Given the description of an element on the screen output the (x, y) to click on. 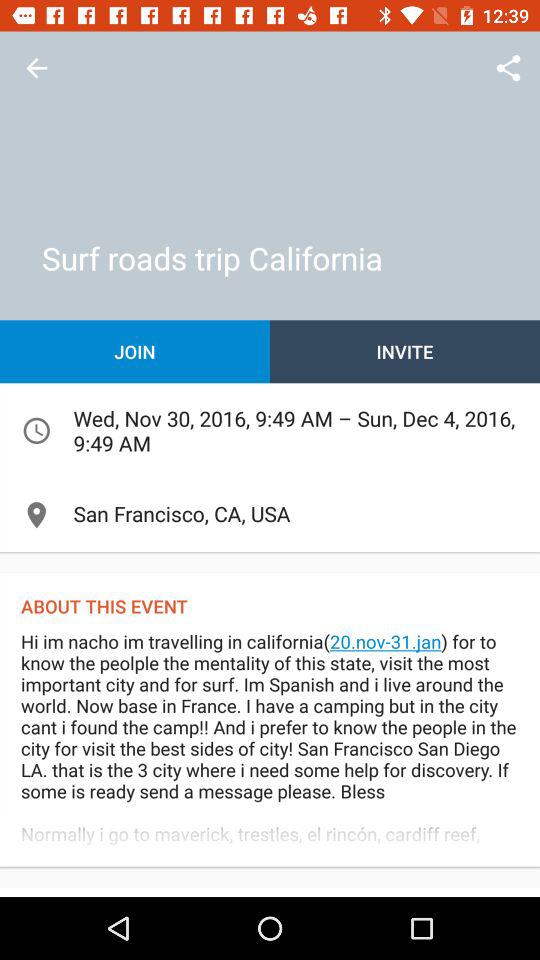
select hi im nacho icon (270, 747)
